Given the description of an element on the screen output the (x, y) to click on. 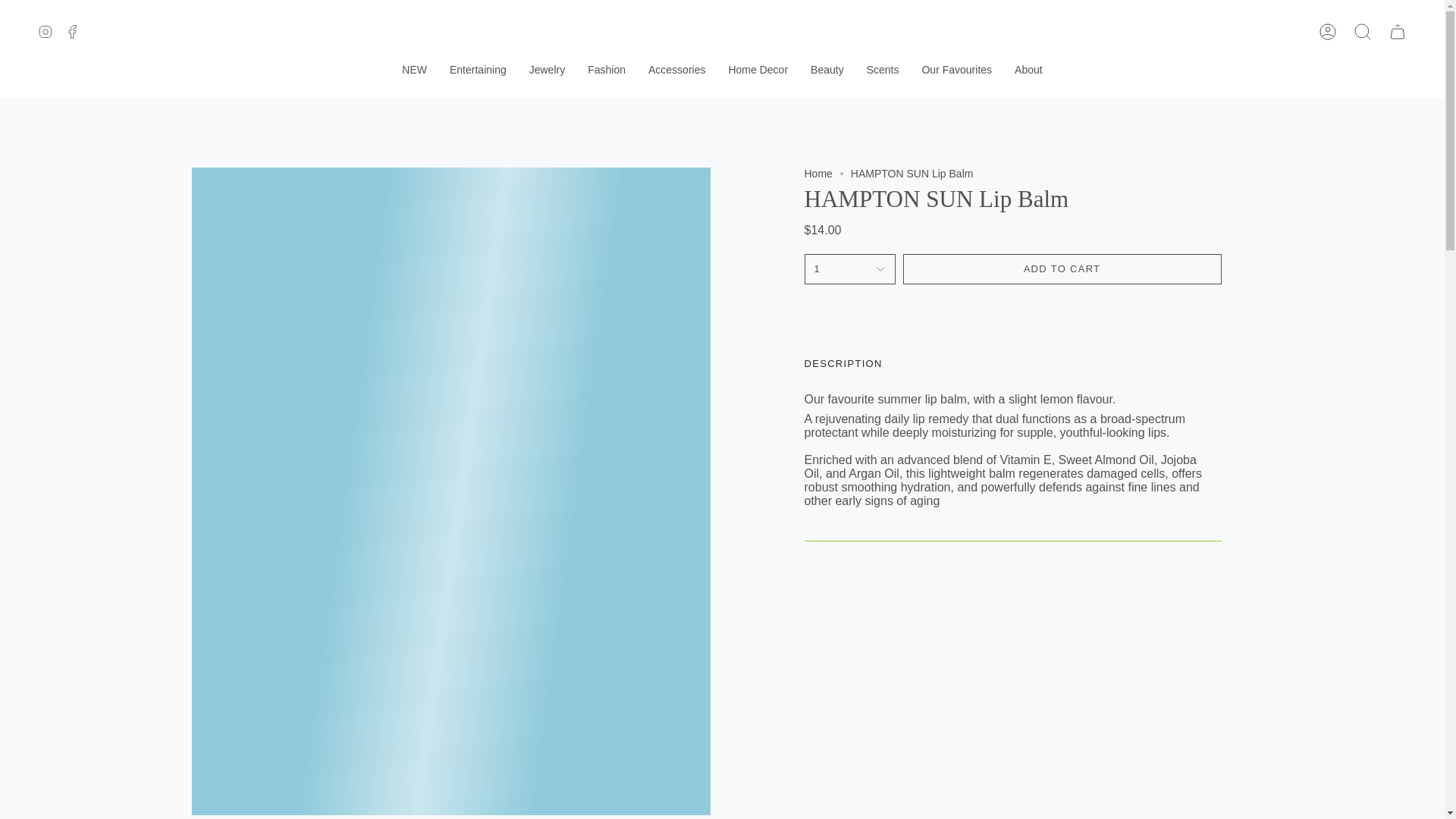
Cart (1397, 31)
Search (1362, 31)
Calypso Cottage- Luxury Resort Lifestyle  on Facebook (72, 30)
Instagram (44, 30)
Facebook (72, 30)
Jewelry (547, 69)
Calypso Cottage- Luxury Resort Lifestyle  on Instagram (44, 30)
NEW (414, 69)
Fashion (606, 69)
Accessories (676, 69)
My Account (1327, 31)
Entertaining (478, 69)
Account (1327, 31)
Cart (1397, 31)
